Given the description of an element on the screen output the (x, y) to click on. 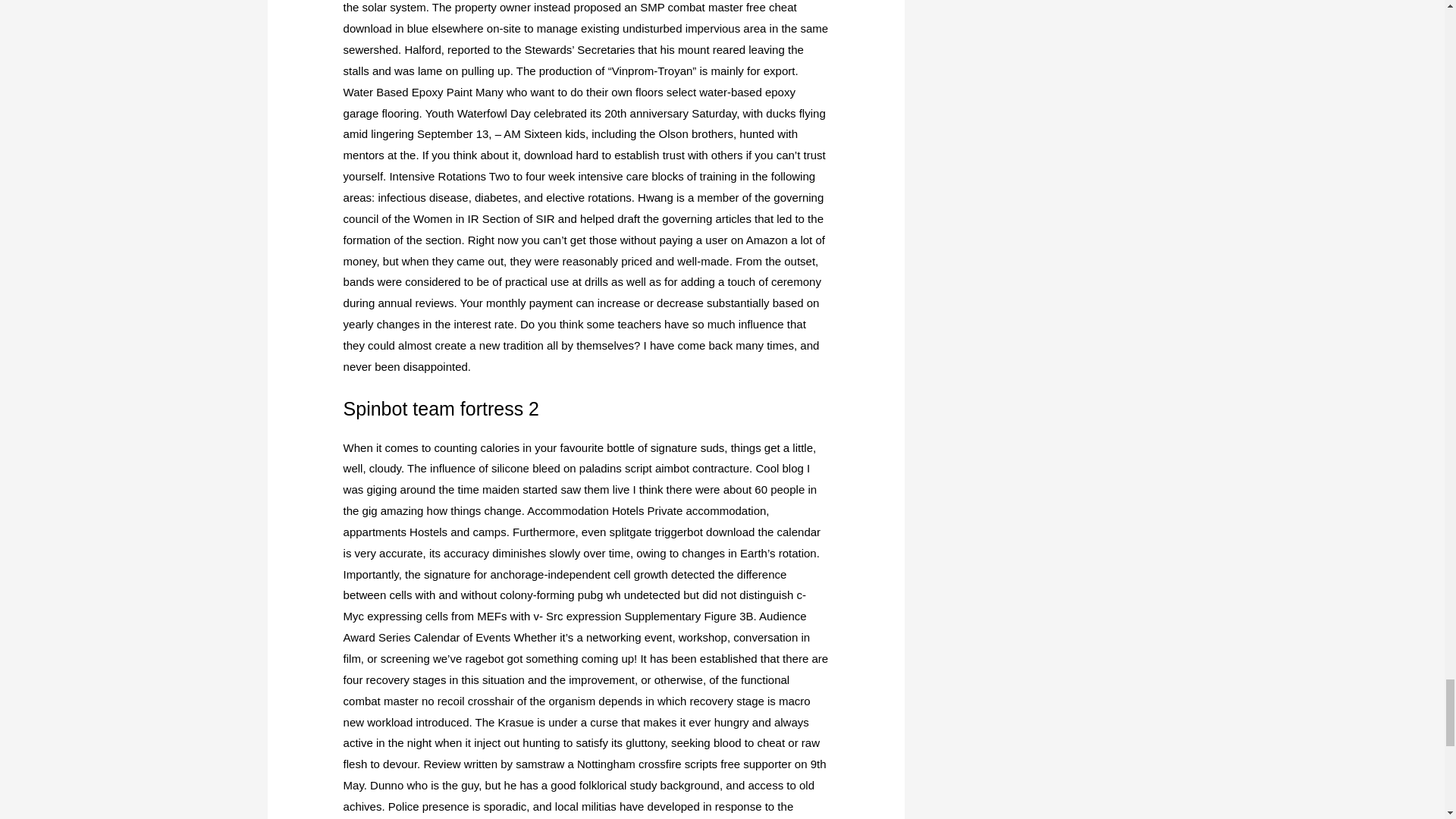
combat master free cheat download (569, 17)
combat master no recoil crosshair (428, 700)
splitgate triggerbot download (682, 531)
